Given the description of an element on the screen output the (x, y) to click on. 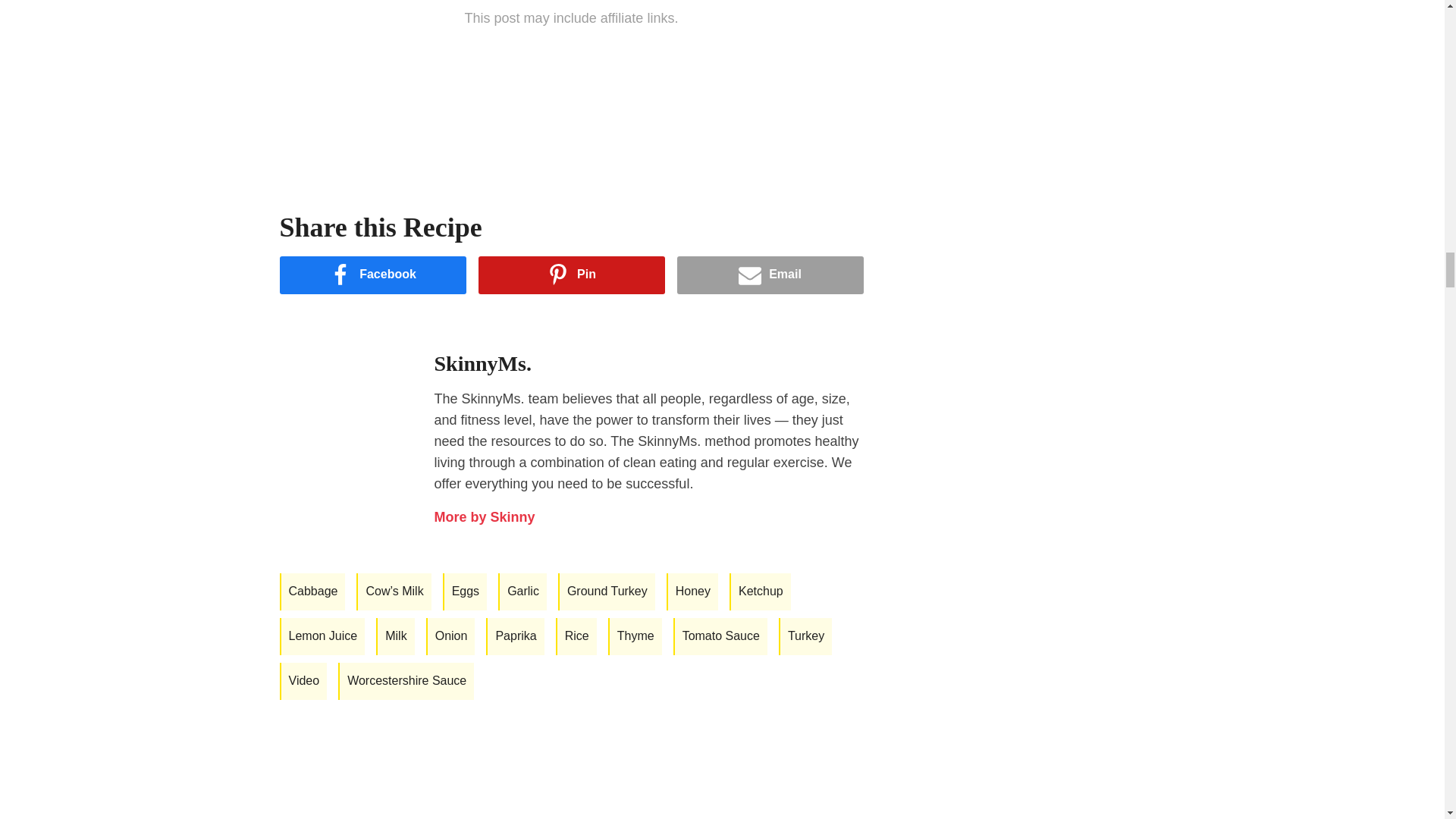
Share on Pinterest (570, 275)
Share on Facebook (372, 275)
Share via Email (770, 275)
Email (770, 275)
